Given the description of an element on the screen output the (x, y) to click on. 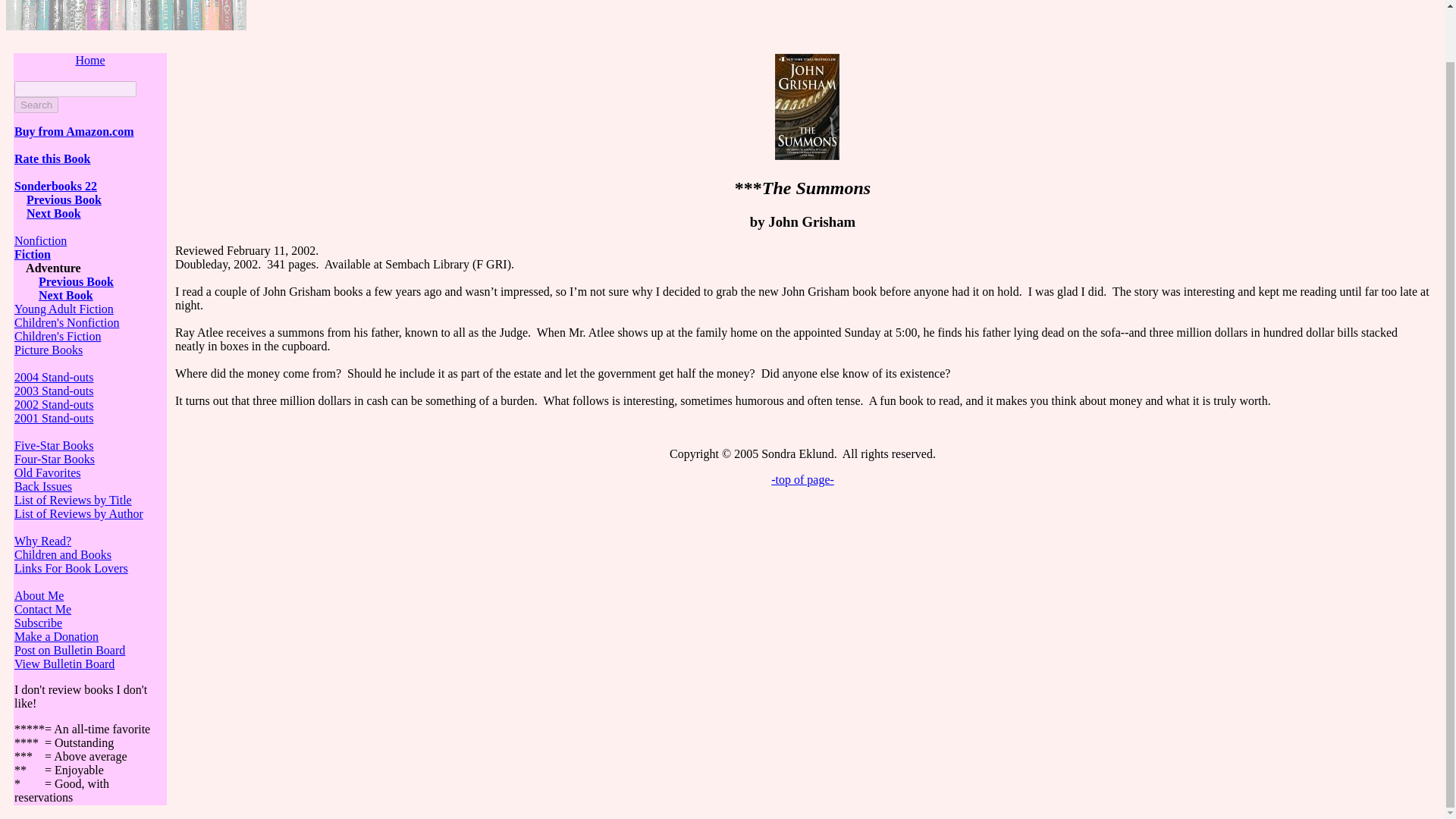
Previous Book (76, 281)
Four-Star Books (54, 459)
View Bulletin Board (64, 663)
Back Issues (42, 486)
Young Adult Fiction (63, 308)
2002 Stand-outs (53, 404)
Buy from Amazon.com (73, 131)
Home (89, 60)
Sonderbooks 22 (55, 185)
Make a Donation (56, 635)
Rate this Book (52, 158)
Post on Bulletin Board (69, 649)
Previous Book (63, 199)
-top of page- (802, 479)
List of Reviews by Author (78, 513)
